Given the description of an element on the screen output the (x, y) to click on. 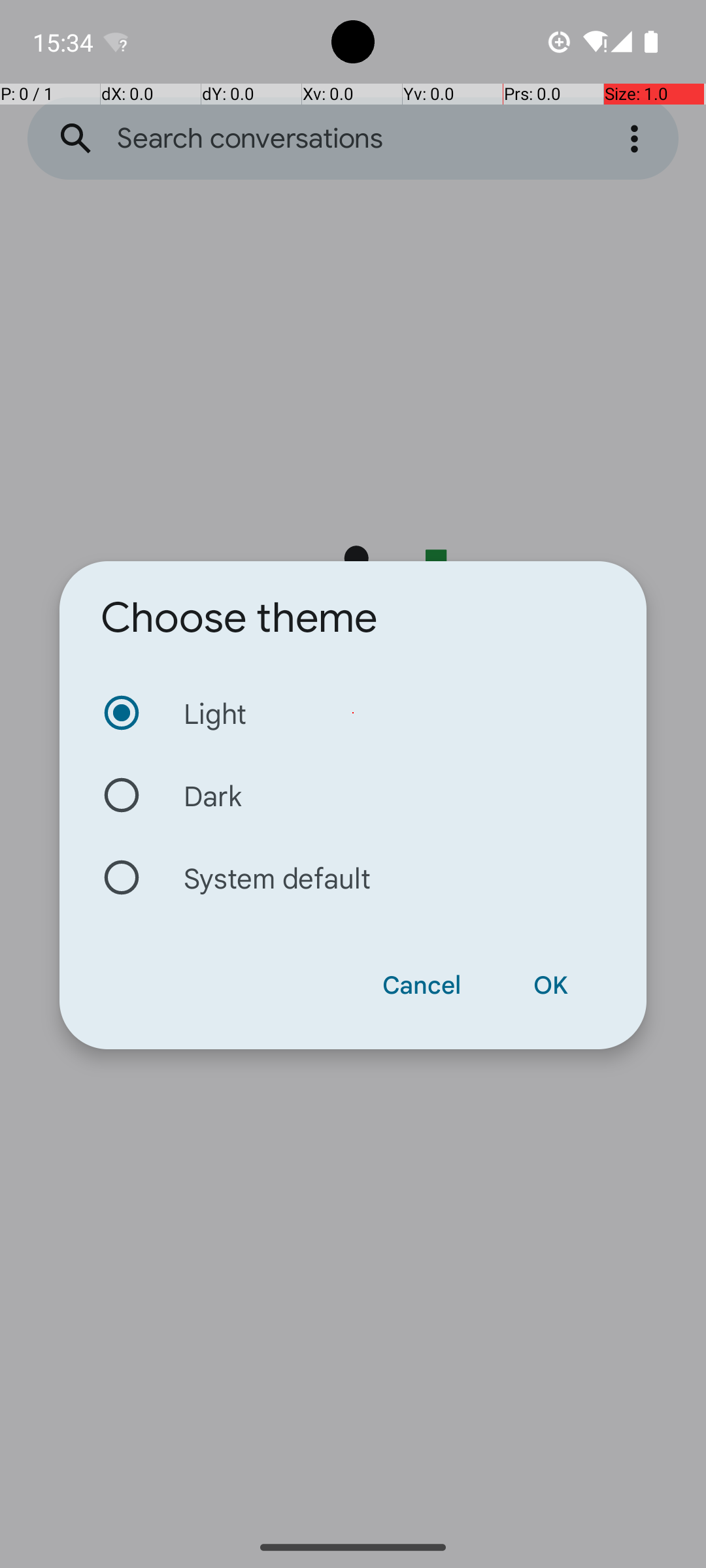
Choose theme Element type: android.widget.TextView (238, 617)
Light Element type: android.widget.CheckedTextView (352, 712)
Dark Element type: android.widget.CheckedTextView (352, 794)
